Given the description of an element on the screen output the (x, y) to click on. 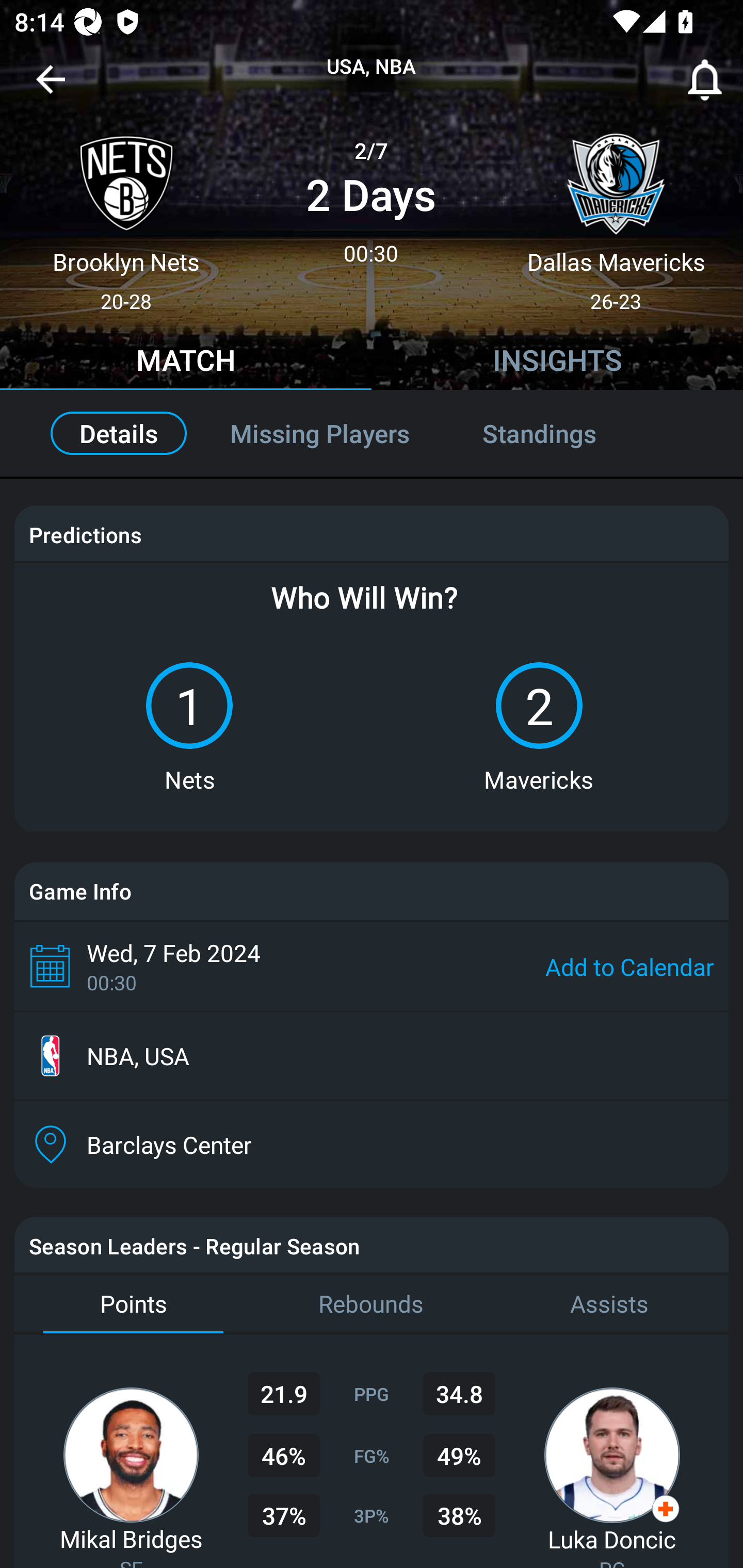
Navigate up (50, 86)
USA, NBA (371, 66)
Brooklyn Nets 20-28 (126, 214)
Dallas Mavericks 26-23 (616, 214)
MATCH (185, 362)
INSIGHTS (557, 362)
Missing Players (319, 433)
Standings (561, 433)
Predictions (85, 534)
1 (189, 705)
2 (538, 705)
Game Info (371, 891)
Wed, 7 Feb 2024 00:30 Add to Calendar (371, 965)
NBA, USA (371, 1055)
Barclays Center (371, 1144)
Rebounds (371, 1303)
Assists (609, 1303)
Mikal Bridges (131, 1537)
Luka Doncic (611, 1538)
